Given the description of an element on the screen output the (x, y) to click on. 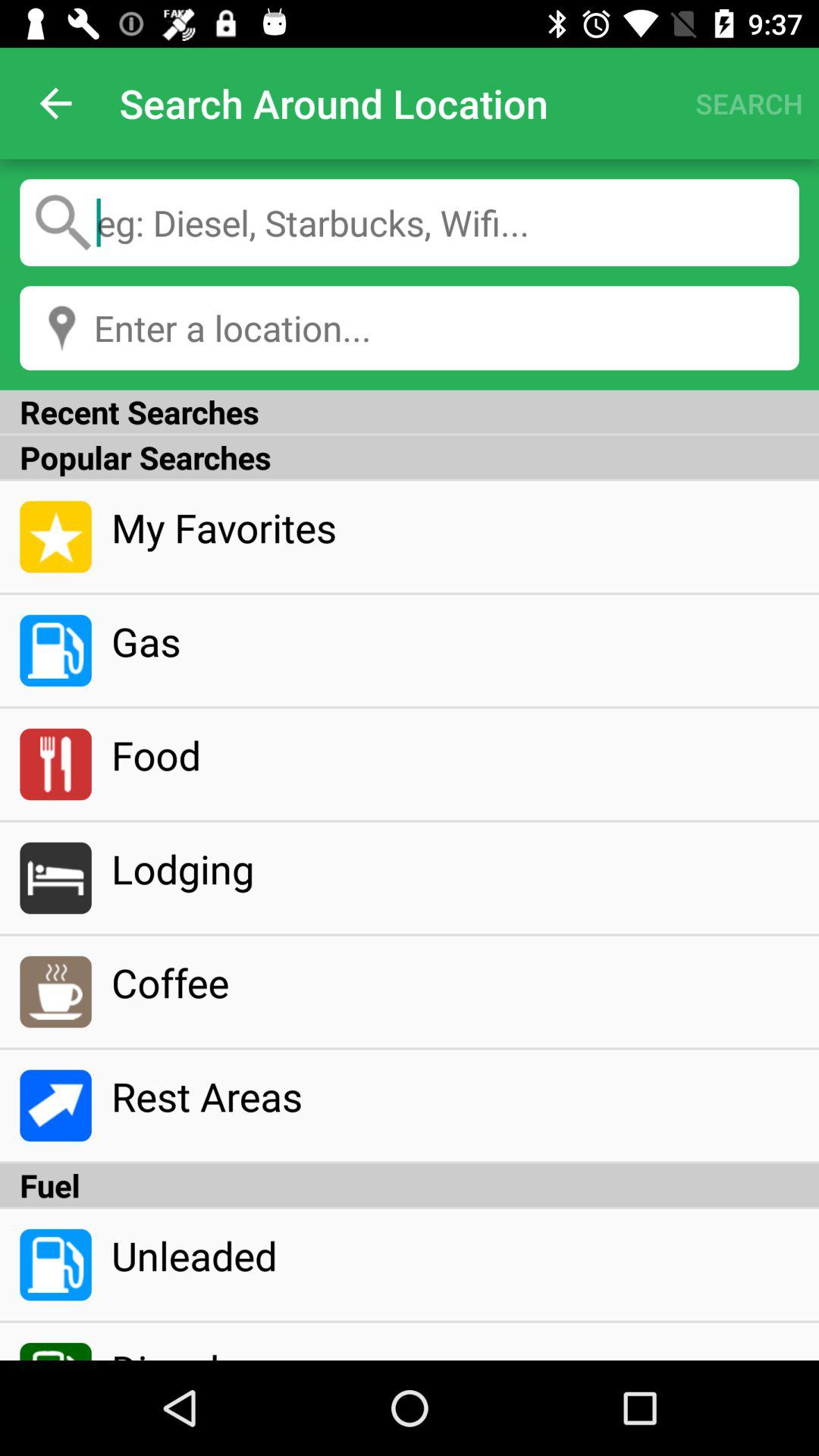
click icon above the food icon (455, 640)
